Given the description of an element on the screen output the (x, y) to click on. 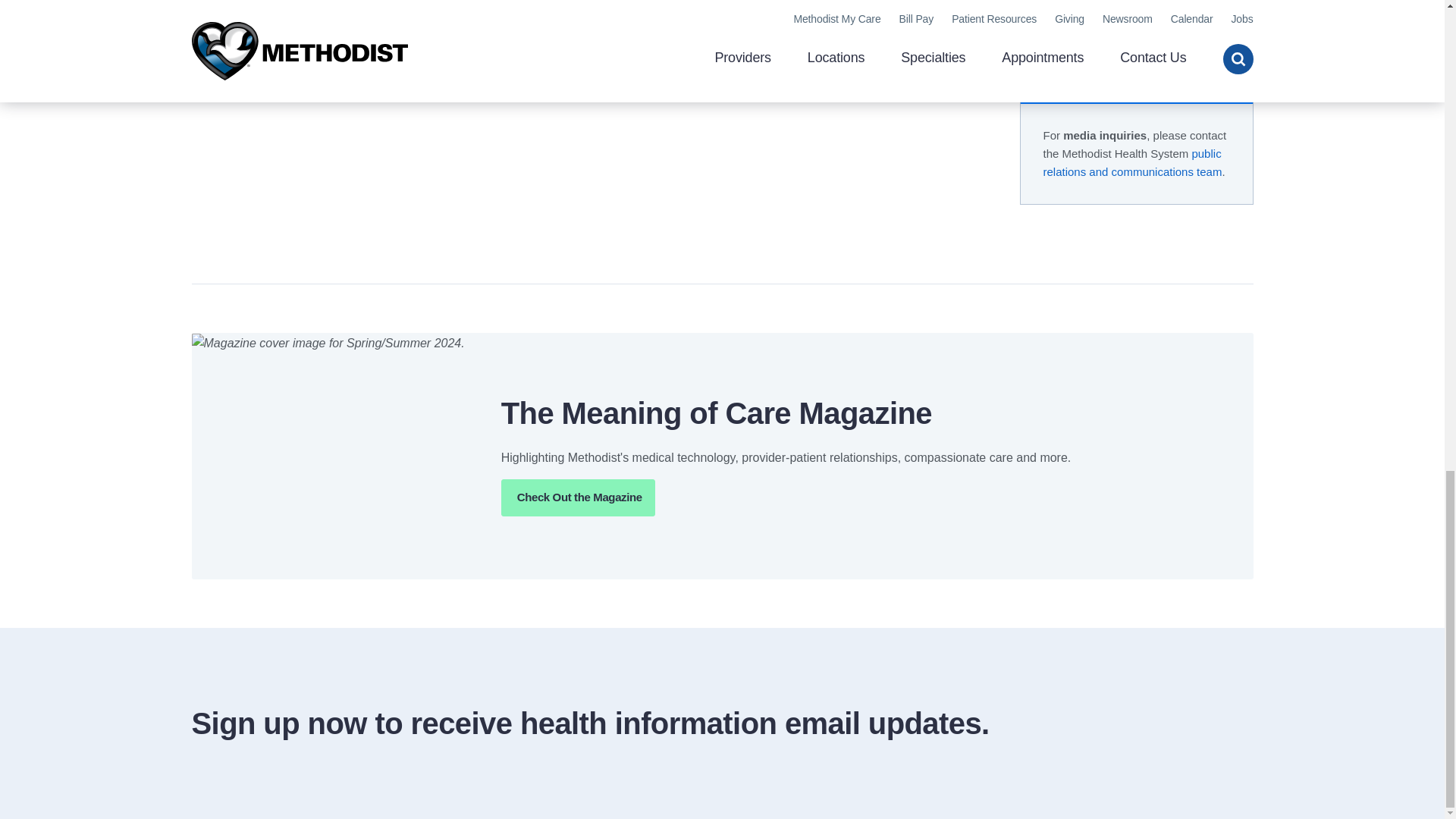
Check Out the Magazine (577, 497)
Methodist Health System media inquiry (1133, 162)
public relations and communications team (1133, 162)
